Given the description of an element on the screen output the (x, y) to click on. 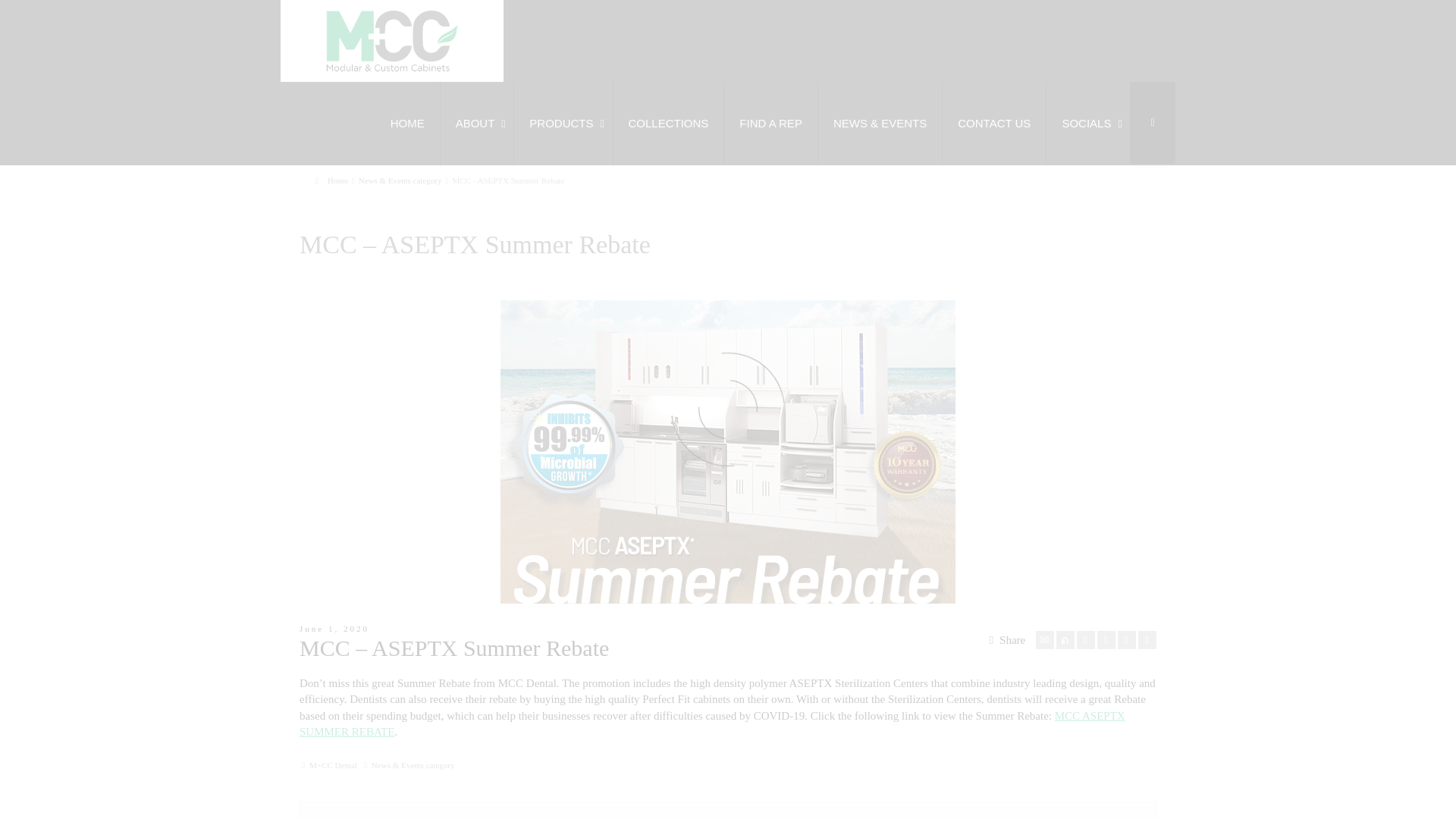
Facebook (1085, 639)
FIND A REP (769, 123)
X (1065, 639)
Pinterest (1106, 639)
ABOUT (476, 123)
Linkedin (1126, 639)
COLLECTIONS (667, 123)
Email (1044, 639)
MCC Dental (392, 40)
